Given the description of an element on the screen output the (x, y) to click on. 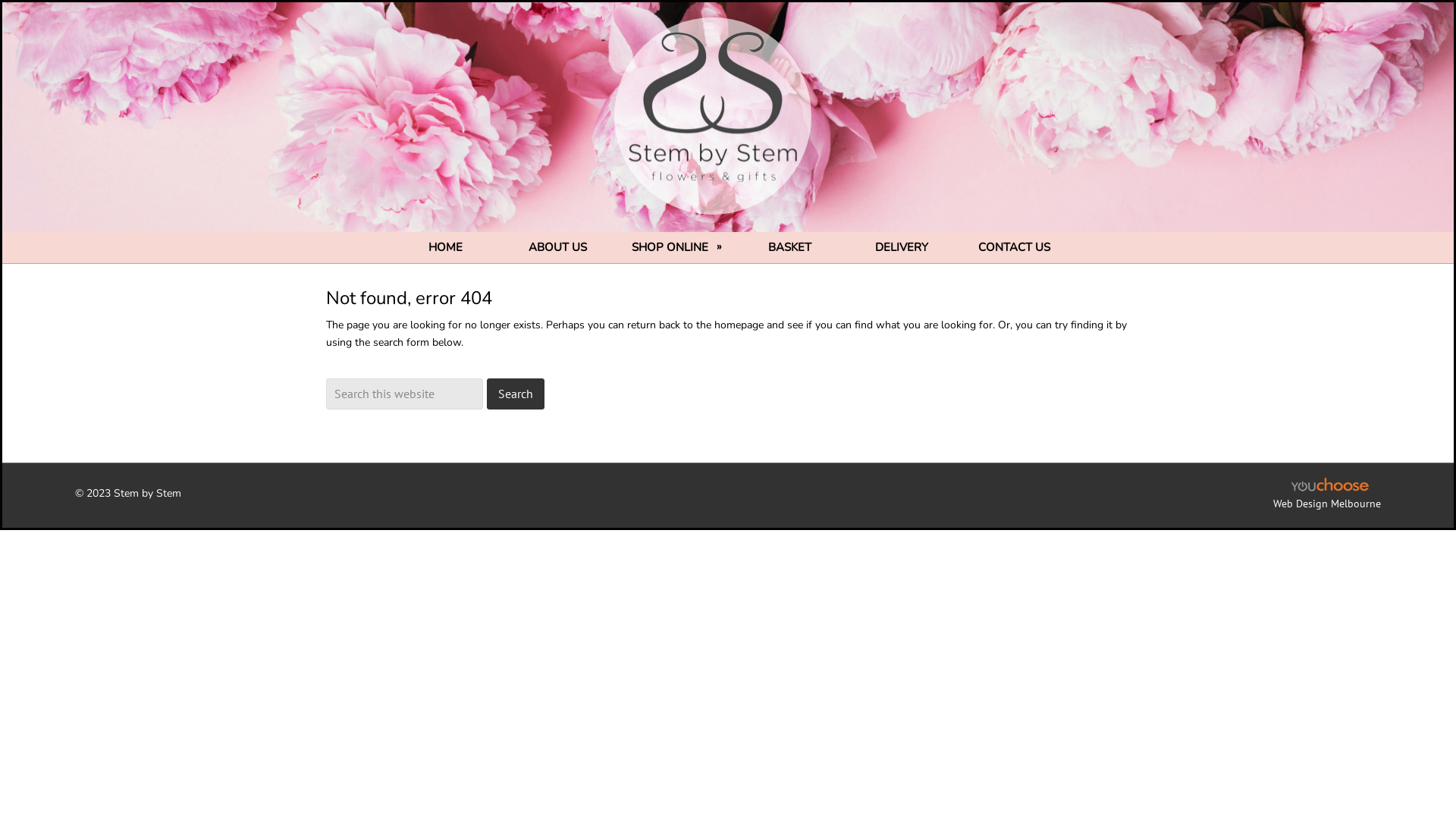
DELIVERY Element type: text (901, 247)
Stem by Stem Element type: text (724, 127)
HOME Element type: text (444, 247)
Search Element type: text (515, 392)
Web Design Melbourne Element type: text (1326, 502)
homepage Element type: text (738, 324)
ABOUT US Element type: text (556, 247)
CONTACT US Element type: text (1013, 247)
SHOP ONLINE Element type: text (673, 247)
BASKET Element type: text (789, 247)
